Given the description of an element on the screen output the (x, y) to click on. 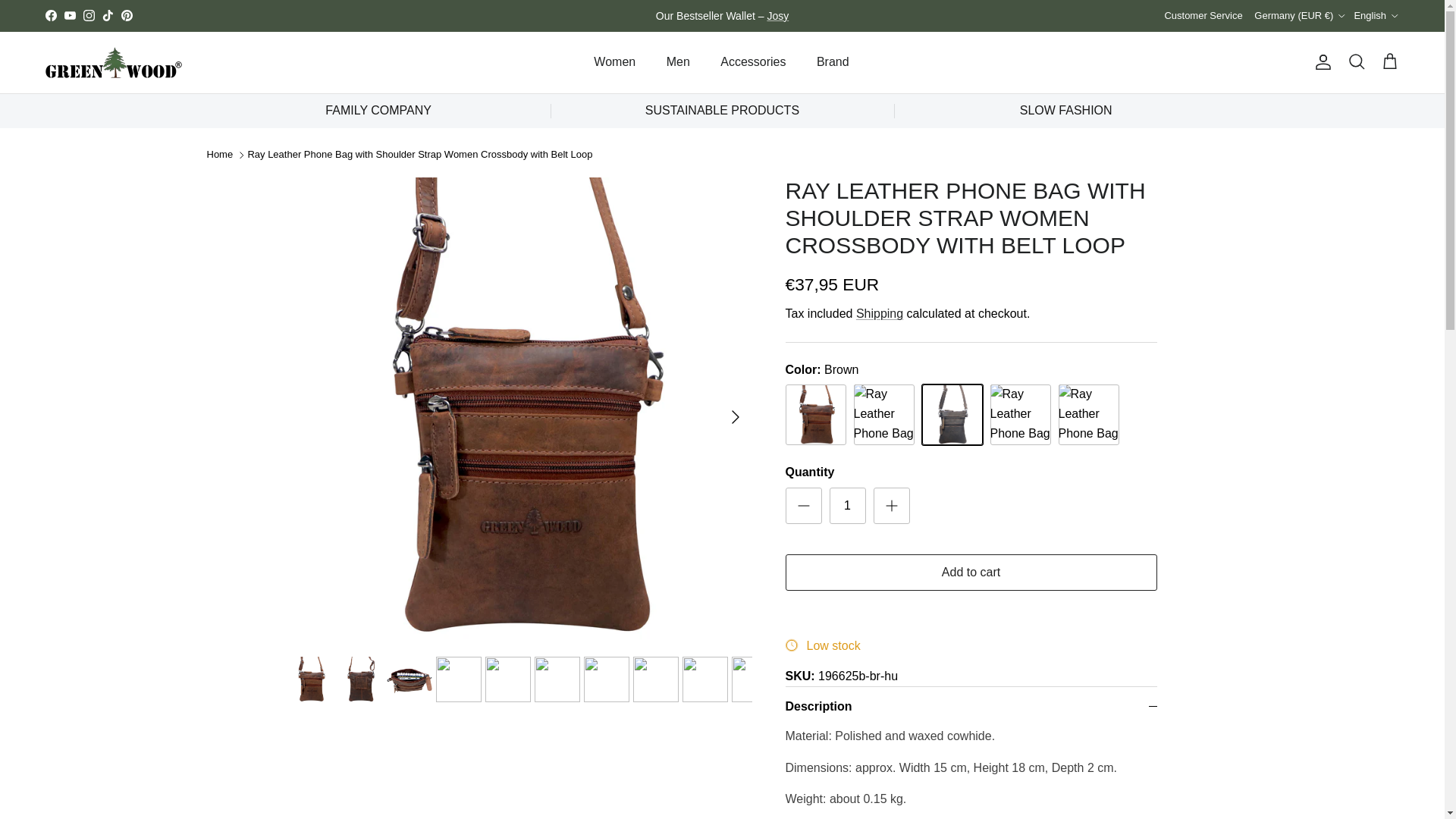
YouTube (69, 15)
Greenwood on Pinterest (126, 15)
Brand (833, 61)
best seller wallet (778, 15)
Men (677, 61)
Facebook (50, 15)
Women (614, 61)
Greenwood on YouTube (69, 15)
Greenwood on Instagram (88, 15)
English (1376, 15)
Greenwood (113, 61)
1 (847, 505)
Accessories (752, 61)
Greenwood on Facebook (50, 15)
Pinterest (126, 15)
